Given the description of an element on the screen output the (x, y) to click on. 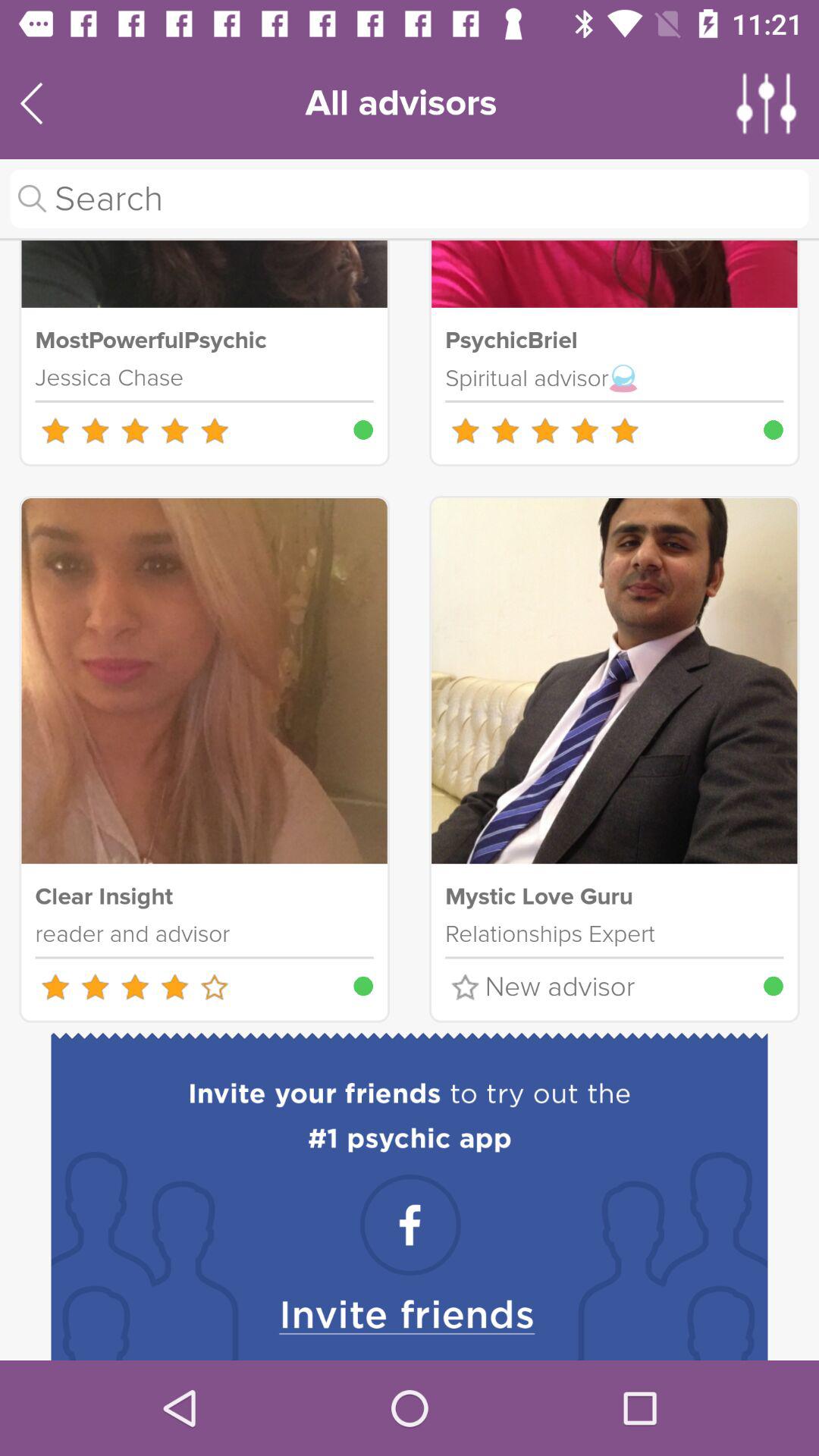
open item below all advisors item (409, 198)
